Given the description of an element on the screen output the (x, y) to click on. 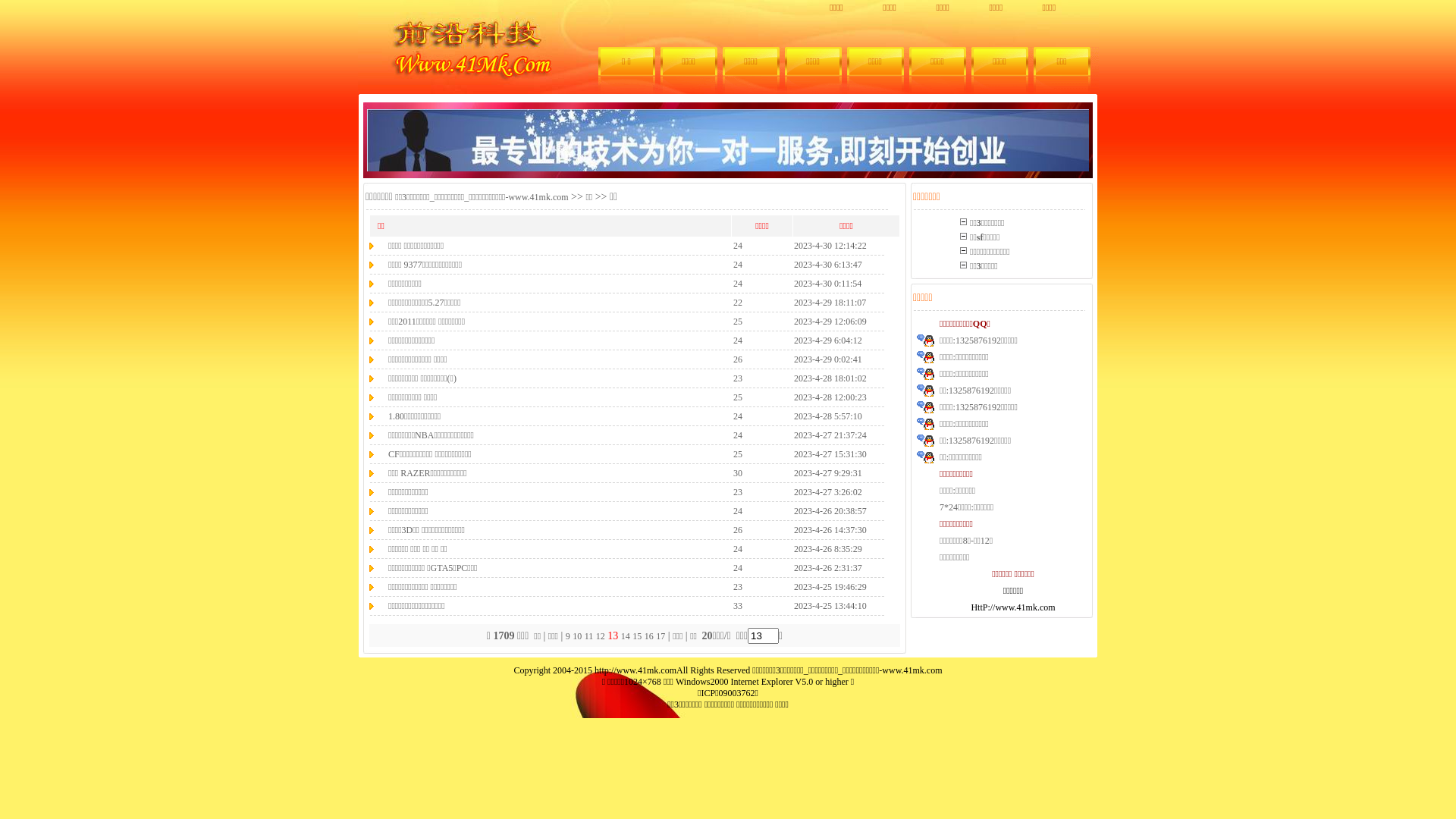
2023-4-26 8:35:29 Element type: text (827, 547)
2023-4-30 6:13:47 Element type: text (827, 264)
2023-4-26 2:31:37 Element type: text (827, 567)
2023-4-26 20:38:57 Element type: text (829, 510)
25 Element type: text (737, 453)
15 Element type: text (636, 635)
24 Element type: text (737, 434)
17 Element type: text (660, 635)
24 Element type: text (737, 282)
24 Element type: text (737, 510)
10 Element type: text (576, 635)
23 Element type: text (737, 585)
2023-4-27 9:29:31 Element type: text (827, 472)
11 Element type: text (588, 635)
24 Element type: text (737, 244)
23 Element type: text (737, 491)
12 Element type: text (600, 635)
2023-4-28 18:01:02 Element type: text (829, 378)
30 Element type: text (737, 472)
2023-4-26 14:37:30 Element type: text (829, 529)
26 Element type: text (737, 358)
14 Element type: text (625, 635)
2023-4-29 18:11:07 Element type: text (829, 302)
2023-4-30 12:14:22 Element type: text (829, 244)
2023-4-27 3:26:02 Element type: text (827, 491)
2023-4-27 15:31:30 Element type: text (829, 453)
2023-4-28 12:00:23 Element type: text (829, 396)
24 Element type: text (737, 567)
9 Element type: text (567, 635)
24 Element type: text (737, 264)
2023-4-29 12:06:09 Element type: text (829, 320)
2023-4-27 21:37:24 Element type: text (829, 434)
16 Element type: text (648, 635)
2023-4-25 19:46:29 Element type: text (829, 585)
25 Element type: text (737, 320)
23 Element type: text (737, 378)
24 Element type: text (737, 340)
25 Element type: text (737, 396)
2023-4-29 0:02:41 Element type: text (827, 358)
2023-4-30 0:11:54 Element type: text (827, 282)
24 Element type: text (737, 416)
22 Element type: text (737, 302)
2023-4-29 6:04:12 Element type: text (827, 340)
2023-4-28 5:57:10 Element type: text (827, 416)
26 Element type: text (737, 529)
24 Element type: text (737, 547)
2023-4-25 13:44:10 Element type: text (829, 605)
33 Element type: text (737, 605)
